Given the description of an element on the screen output the (x, y) to click on. 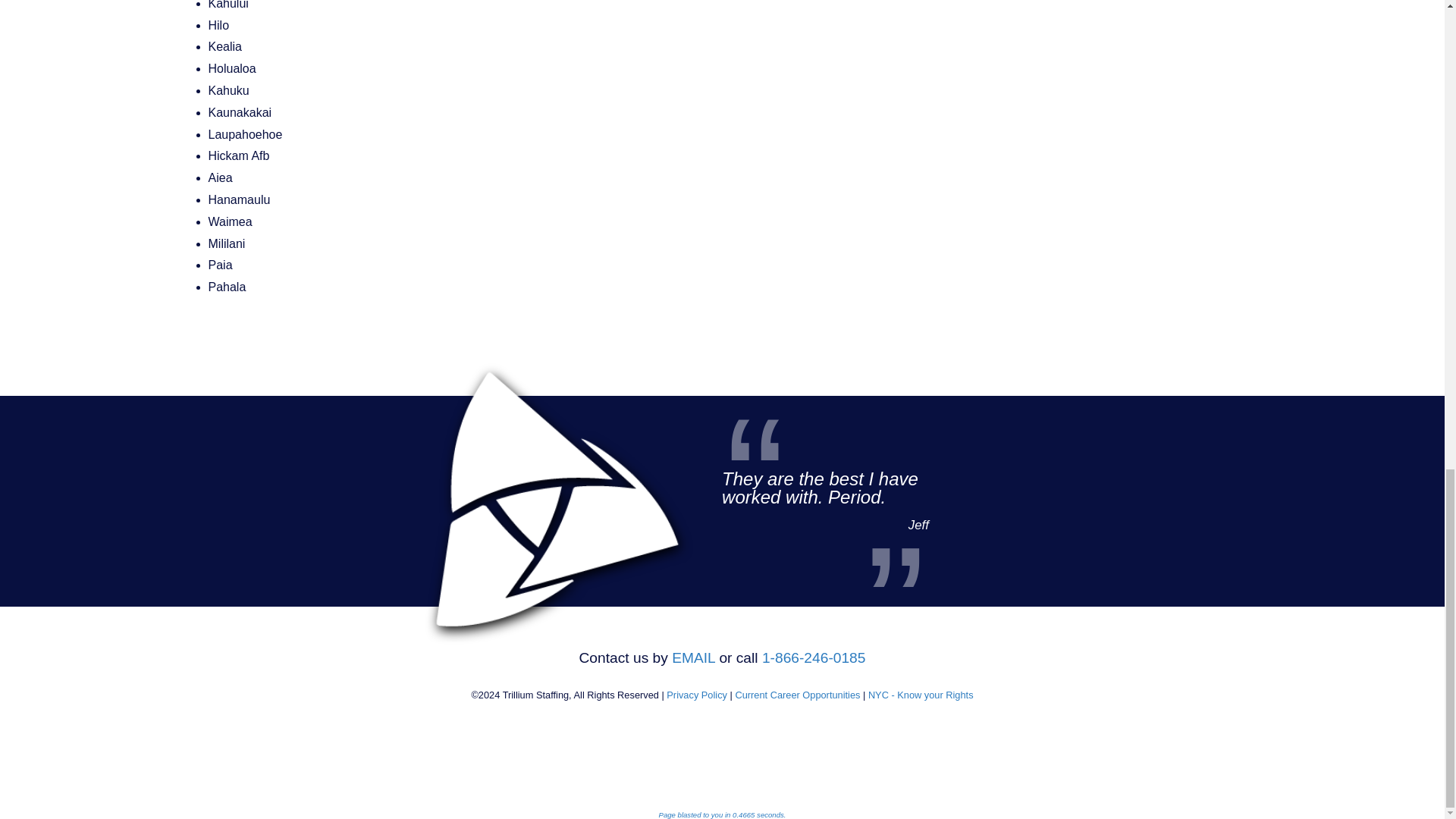
Logo (526, 466)
